Given the description of an element on the screen output the (x, y) to click on. 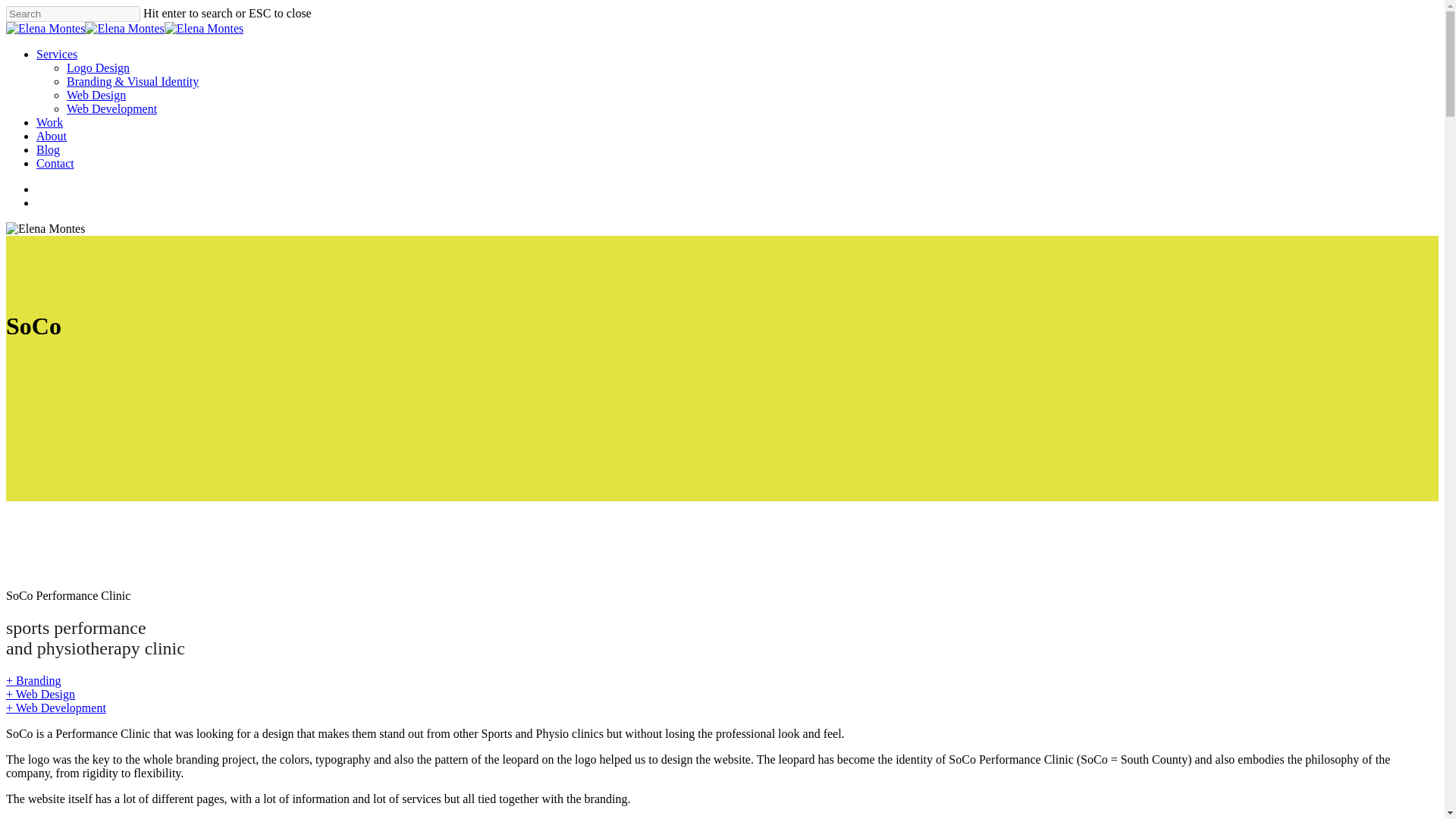
Web Design (95, 94)
Blog (47, 149)
Logo Design (97, 67)
Contact (55, 163)
Web Development Services Ireland (55, 707)
Graphic Design News (47, 149)
Logo and Branding Services Ireland (33, 680)
Branding (132, 81)
Services (56, 53)
Web Design Services Ireland (40, 694)
Logo Design and Identity (97, 67)
WordPress Web Design (95, 94)
Graphic Design Work (49, 122)
Web Development (111, 108)
About Elena Montes (51, 135)
